Given the description of an element on the screen output the (x, y) to click on. 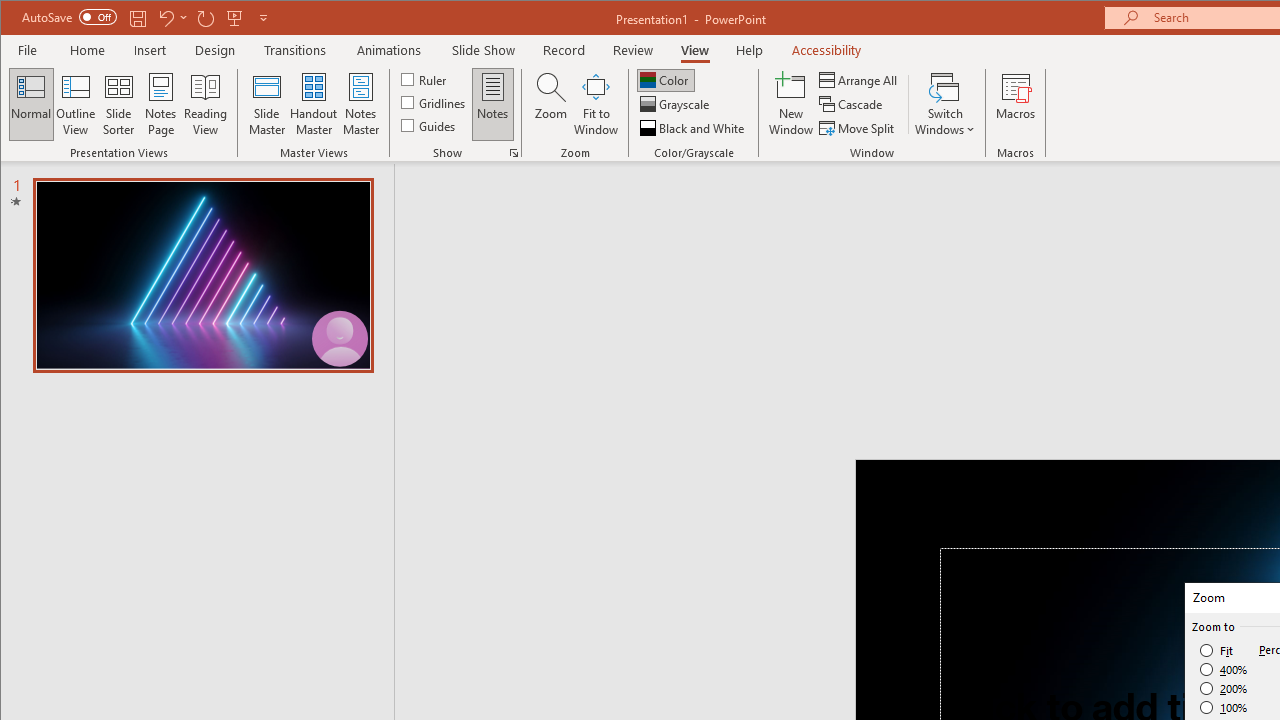
Move Split (858, 127)
Switch Windows (944, 104)
Arrange All (859, 80)
New Window (791, 104)
Color (666, 80)
Fit (1217, 650)
